Given the description of an element on the screen output the (x, y) to click on. 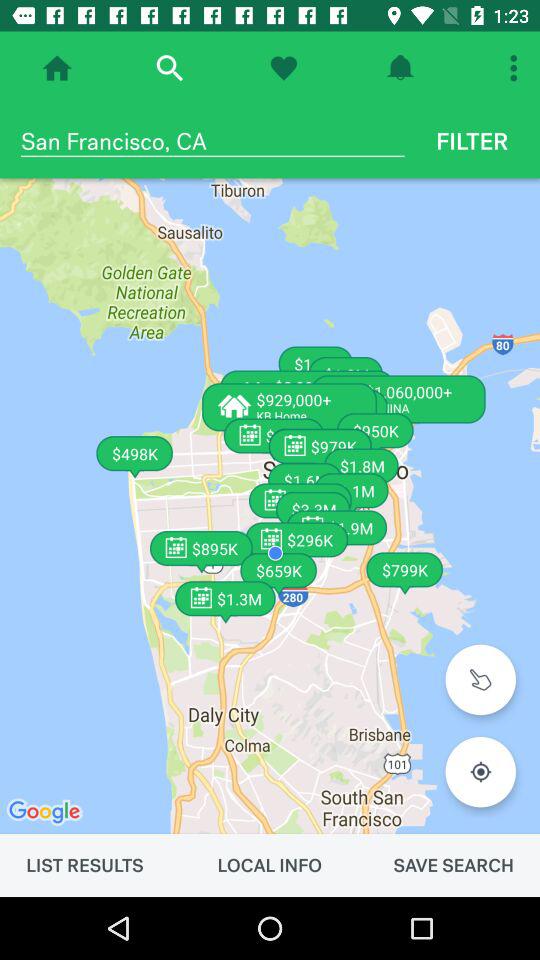
search (169, 68)
